Given the description of an element on the screen output the (x, y) to click on. 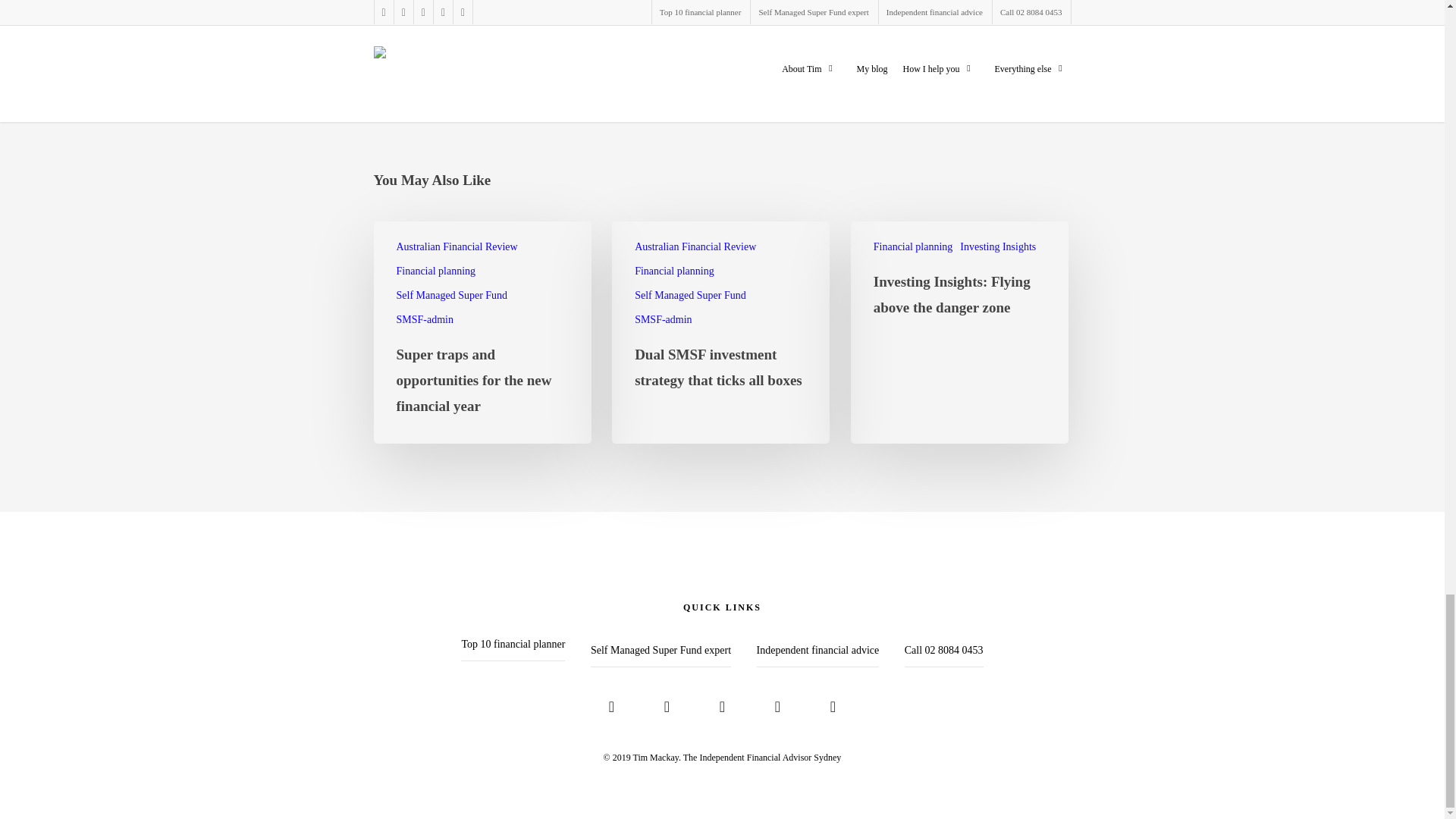
Submit Comment (424, 2)
